Given the description of an element on the screen output the (x, y) to click on. 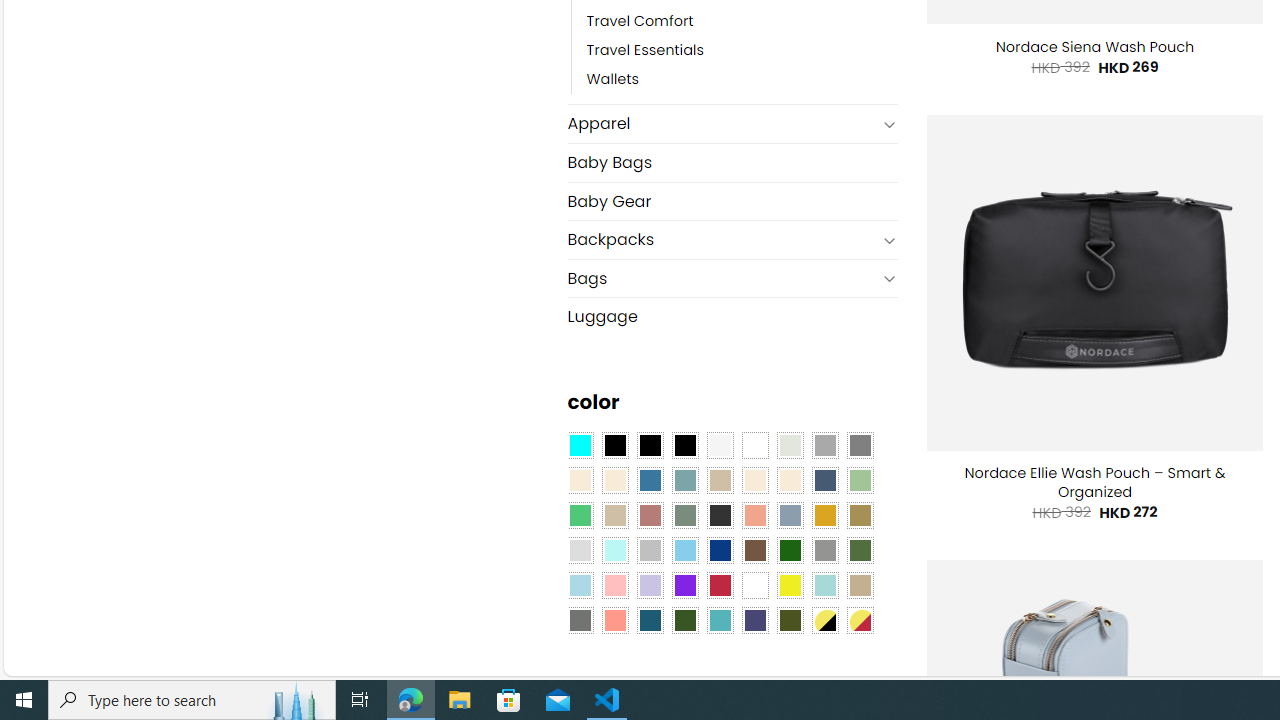
Light Gray (579, 550)
Dusty Blue (789, 514)
Beige (579, 480)
Blue (650, 480)
Aqua Blue (579, 444)
Baby Gear (732, 201)
Silver (650, 550)
Dark Gray (824, 444)
Coral (755, 514)
All Black (614, 444)
Pearly White (719, 444)
Purple (684, 584)
Forest (684, 619)
Backpacks (721, 240)
